Given the description of an element on the screen output the (x, y) to click on. 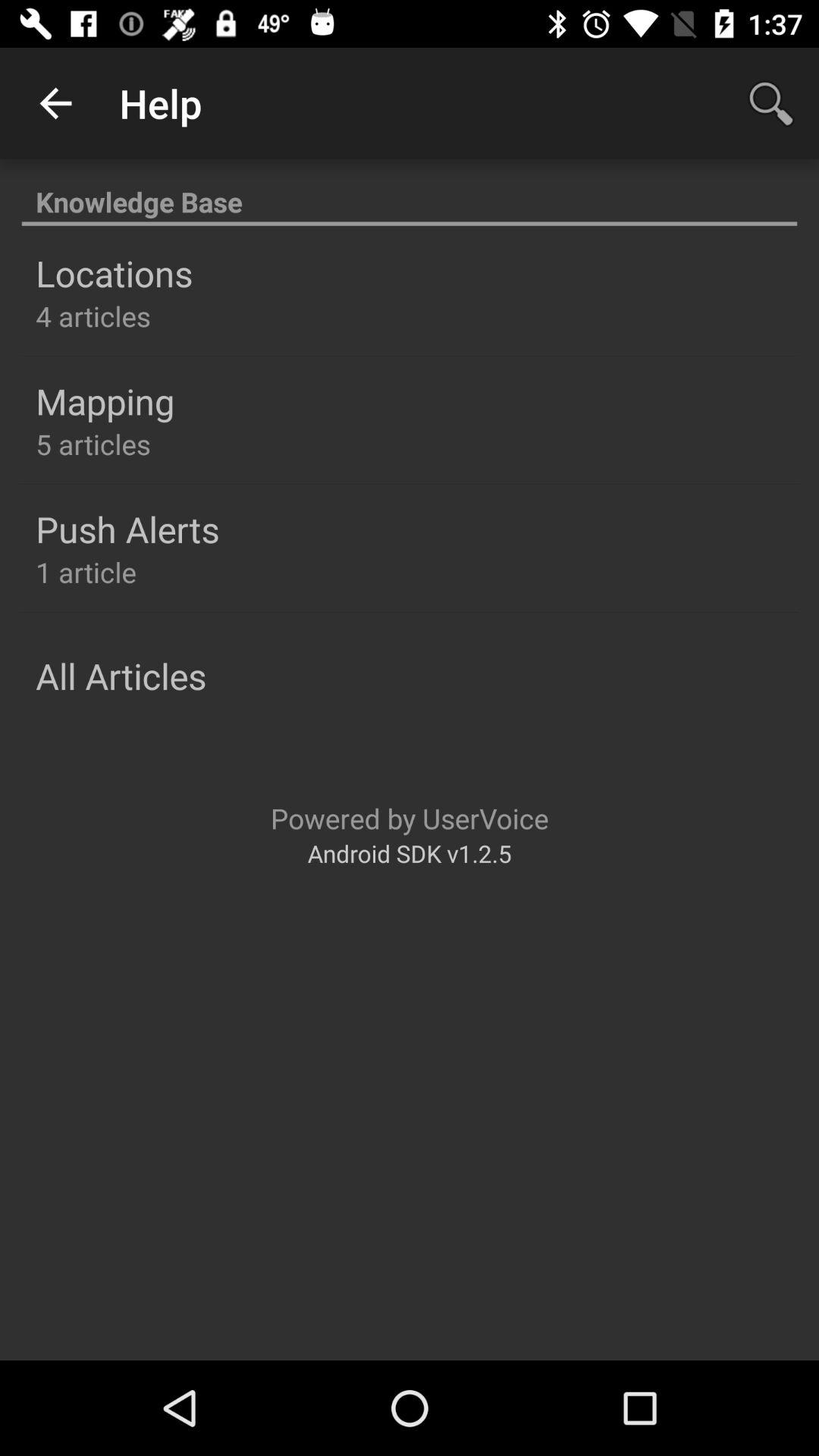
tap the 4 articles (92, 315)
